Given the description of an element on the screen output the (x, y) to click on. 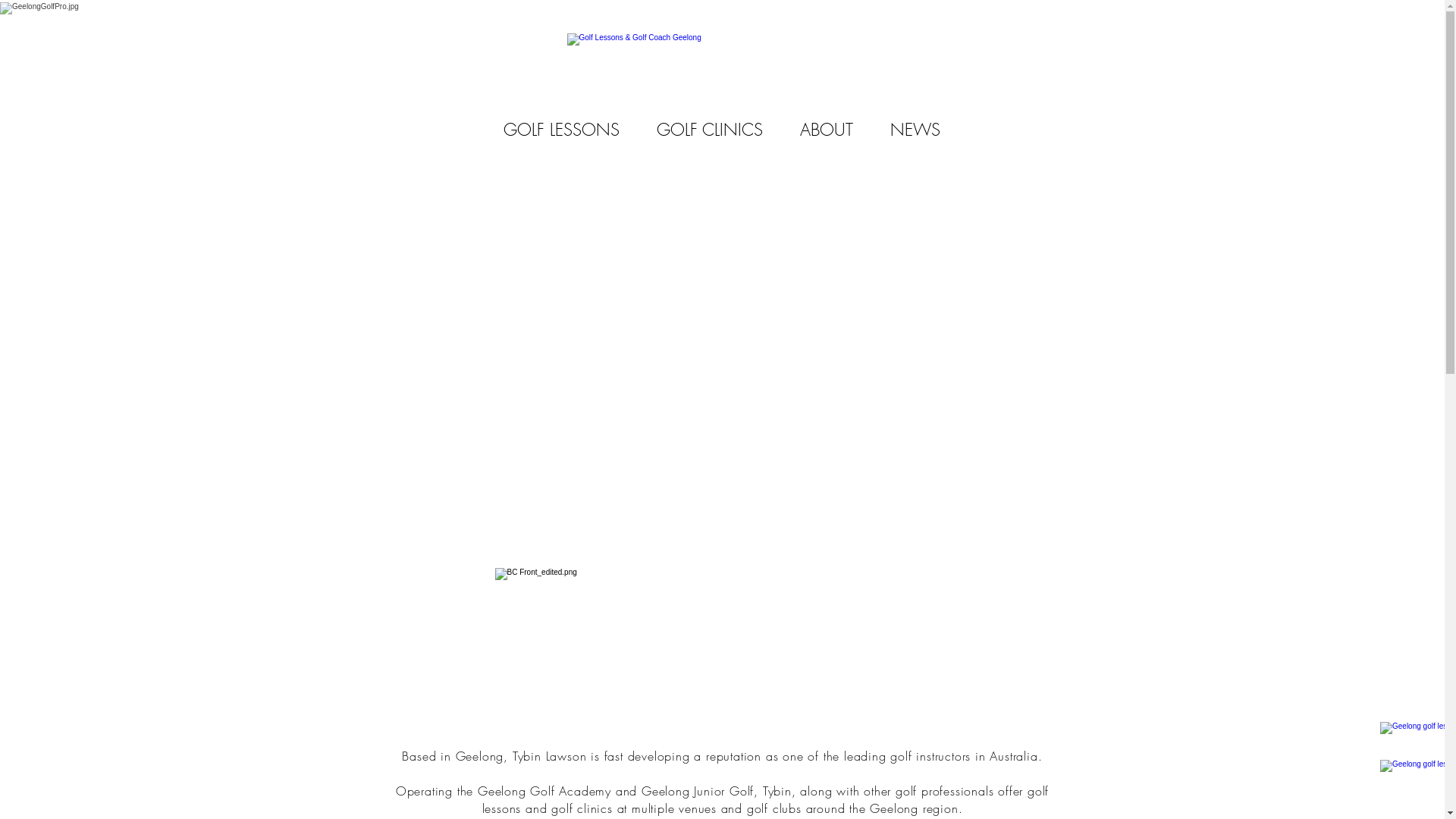
ABOUT Element type: text (826, 129)
NEWS Element type: text (915, 129)
GOLF CLINICS Element type: text (709, 129)
Geelong Golf Academy Element type: text (544, 790)
GOLF LESSONS Element type: text (561, 129)
Geelong Junior Golf Element type: text (697, 790)
